Given the description of an element on the screen output the (x, y) to click on. 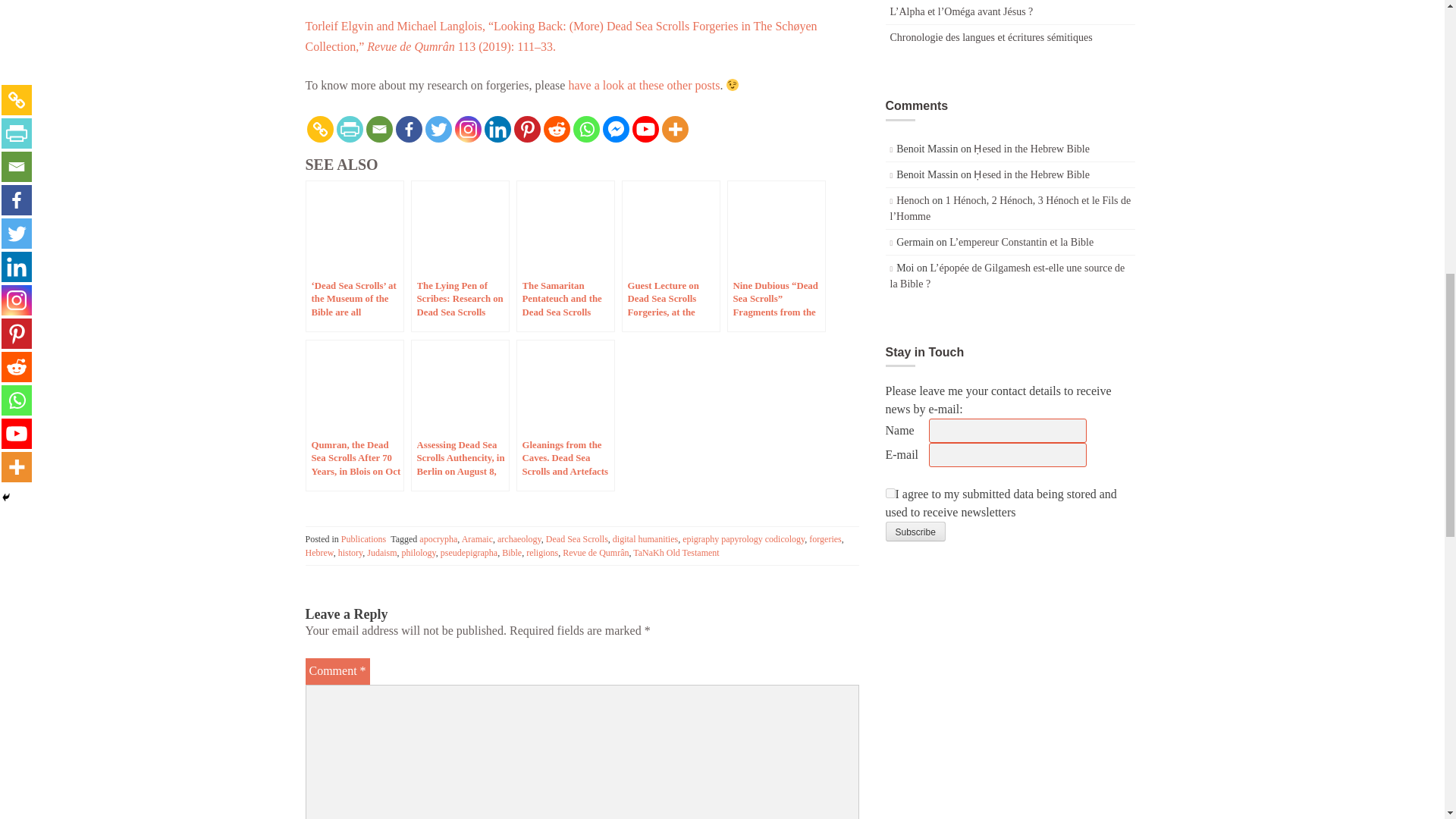
Linkedin (497, 129)
Twitter (438, 129)
Subscribe (914, 531)
Pinterest (526, 129)
More (674, 129)
Reddit (556, 129)
have a look at these other posts (643, 84)
yes (890, 492)
Youtube (645, 129)
Instagram (467, 129)
Facebook (409, 129)
Whatsapp (586, 129)
Copy Link (319, 129)
Email (378, 129)
PrintFriendly (349, 129)
